Given the description of an element on the screen output the (x, y) to click on. 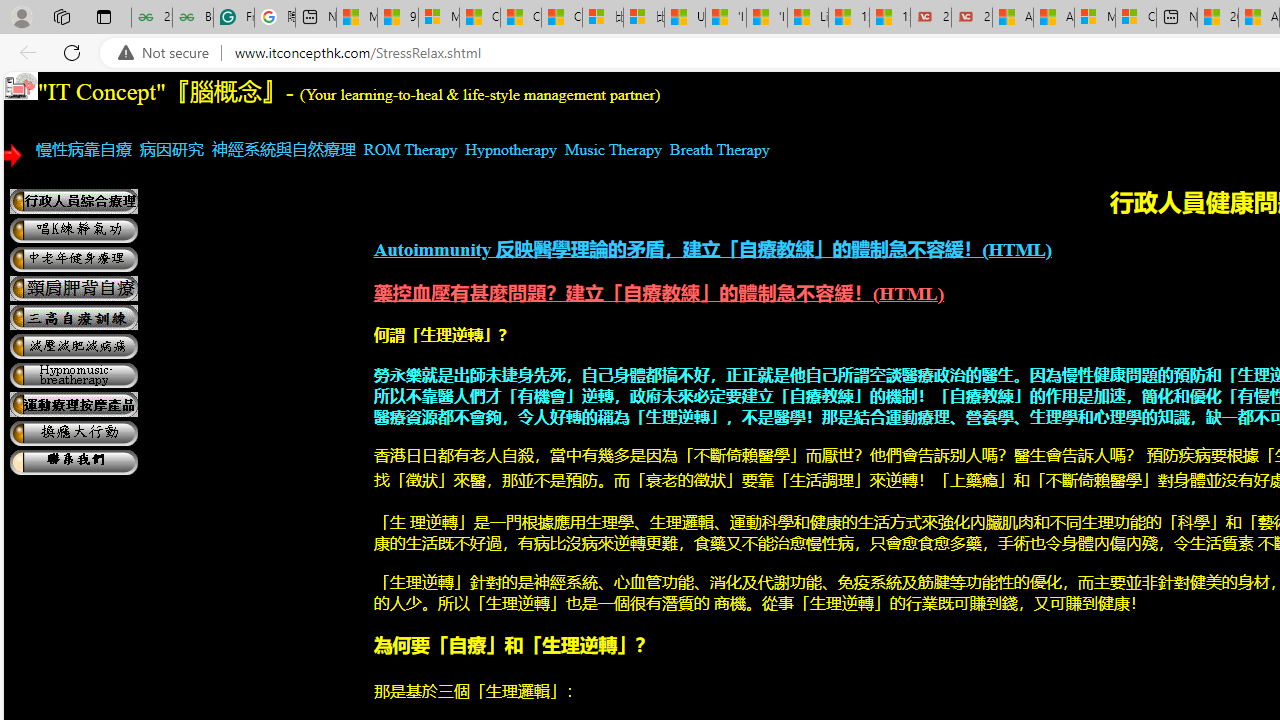
20 Ways to Boost Your Protein Intake at Every Meal (1217, 17)
Breath Therapy (719, 149)
Best SSL Certificates Provider in India - GeeksforGeeks (192, 17)
USA TODAY - MSN (684, 17)
